Given the description of an element on the screen output the (x, y) to click on. 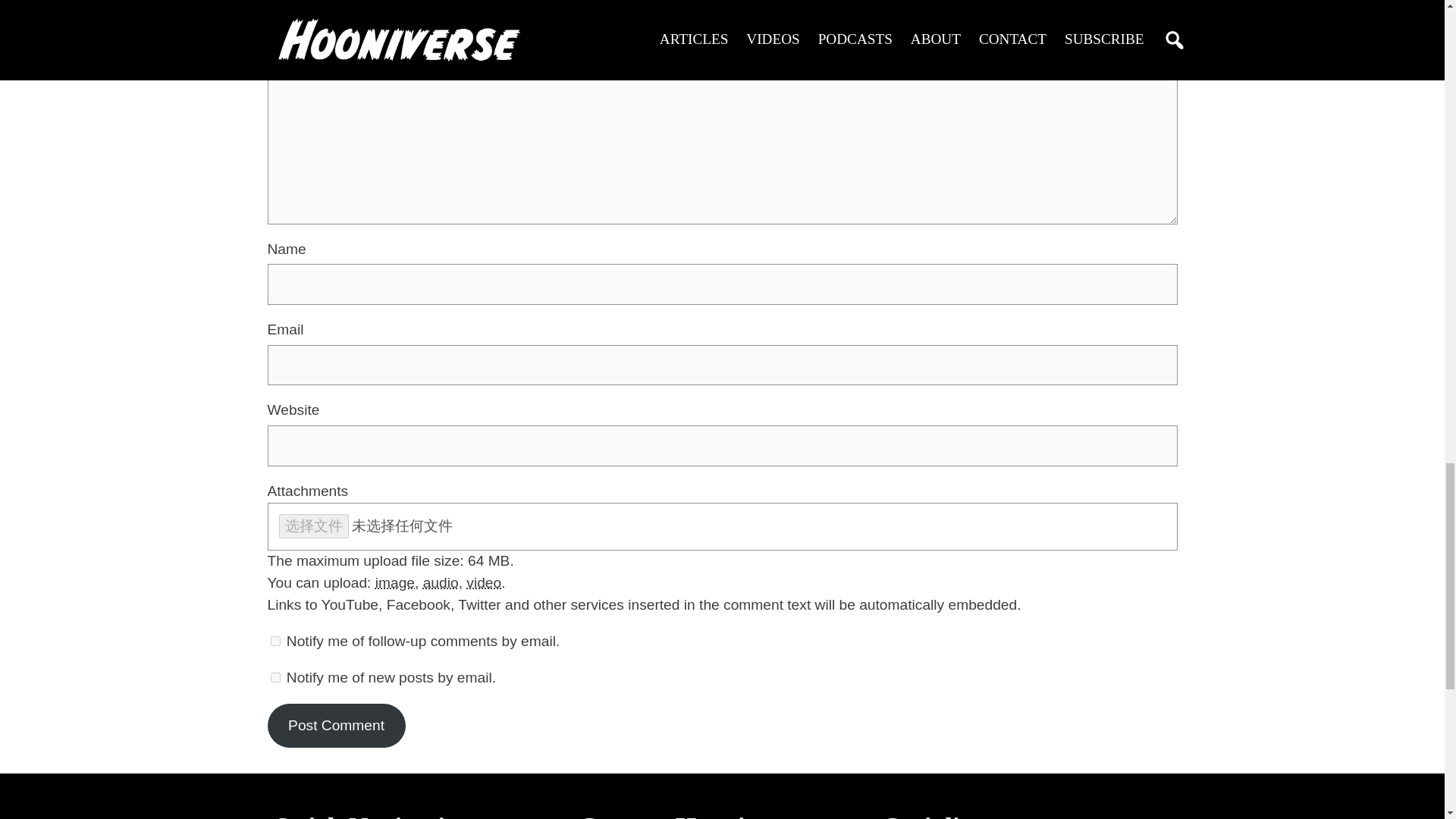
subscribe (274, 677)
mp3, m4a, m4b, aac, ram, wav, ogg, oga, flac, wma, mka (440, 582)
jpg, jpeg, jpe, gif, png, bmp, tiff, tif, ico, heic (394, 582)
Post Comment (335, 725)
subscribe (274, 641)
Post Comment (335, 725)
